Given the description of an element on the screen output the (x, y) to click on. 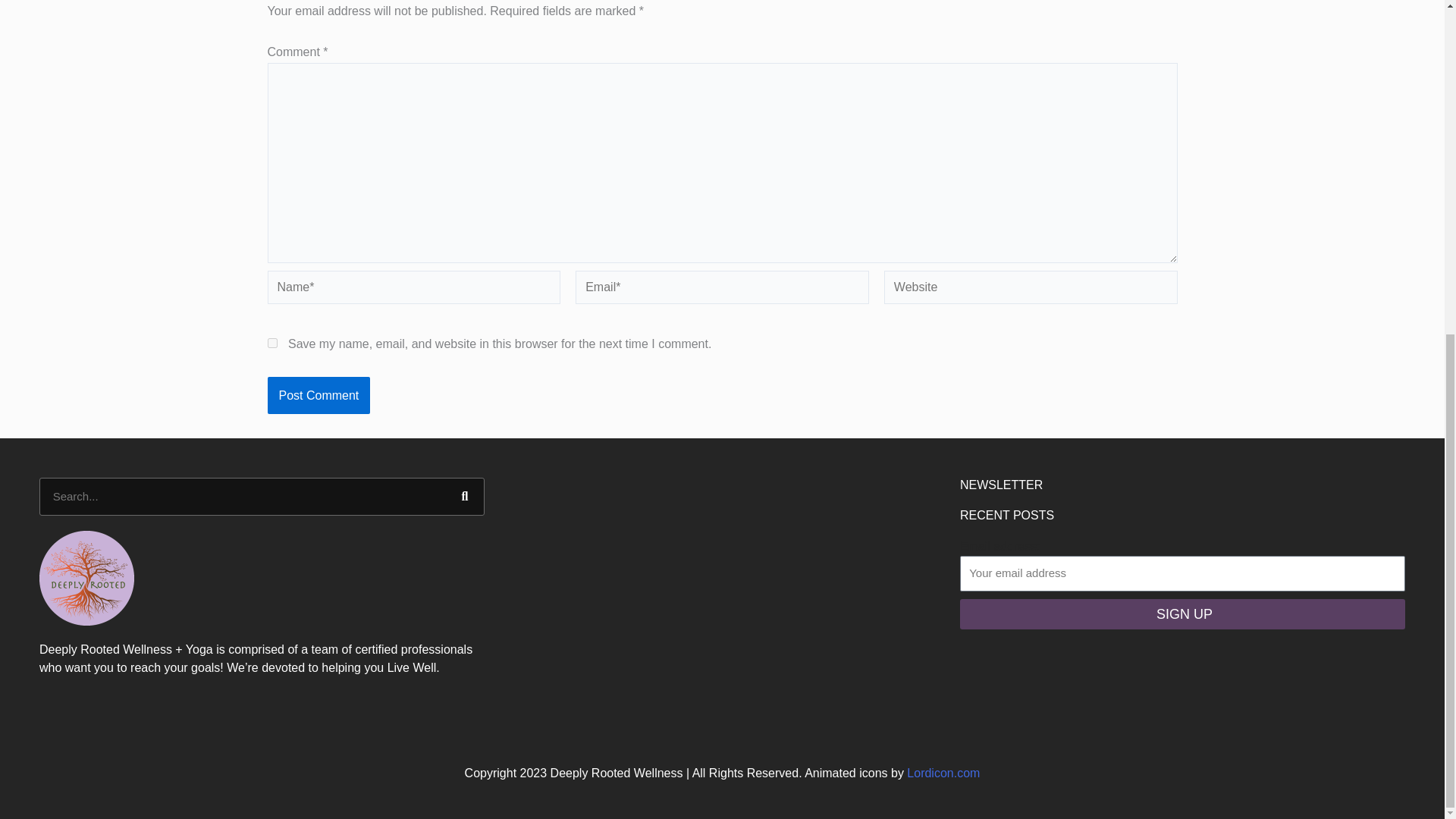
Post Comment (317, 395)
yes (271, 343)
cropped-deeplyrootedwellness-logo.png (86, 577)
